Given the description of an element on the screen output the (x, y) to click on. 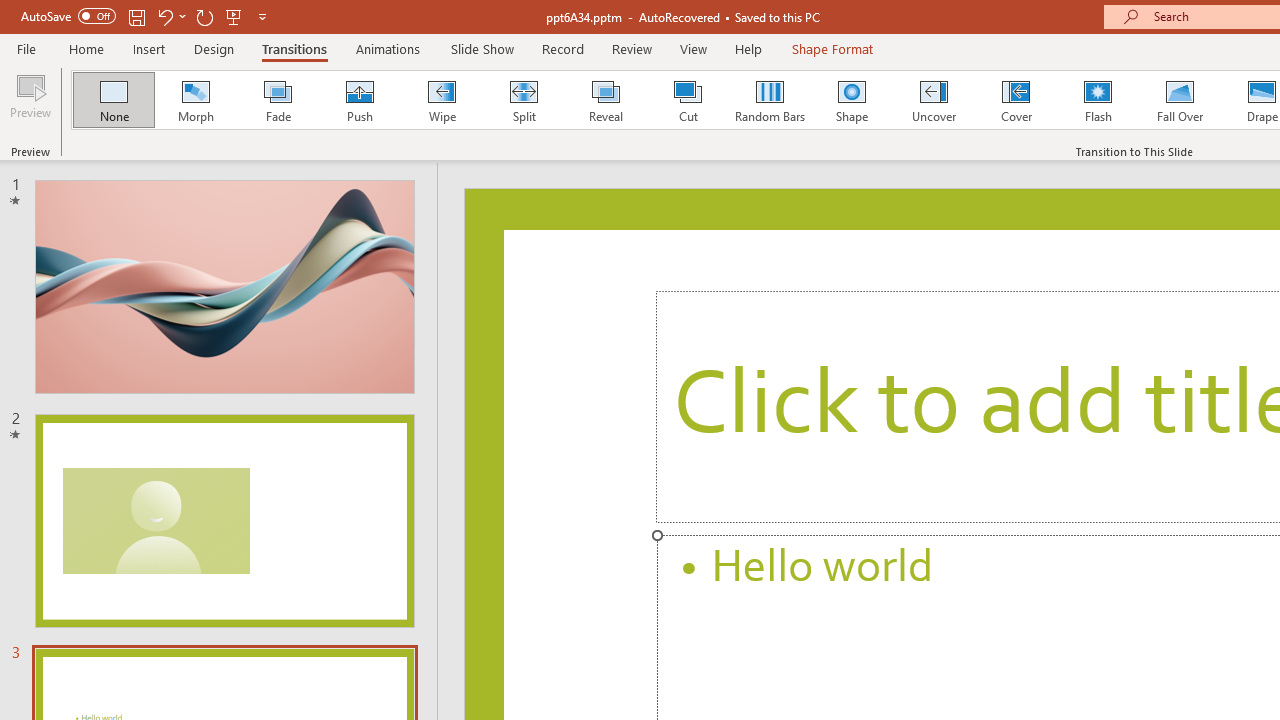
Cover (1016, 100)
Reveal (605, 100)
Flash (1098, 100)
